Given the description of an element on the screen output the (x, y) to click on. 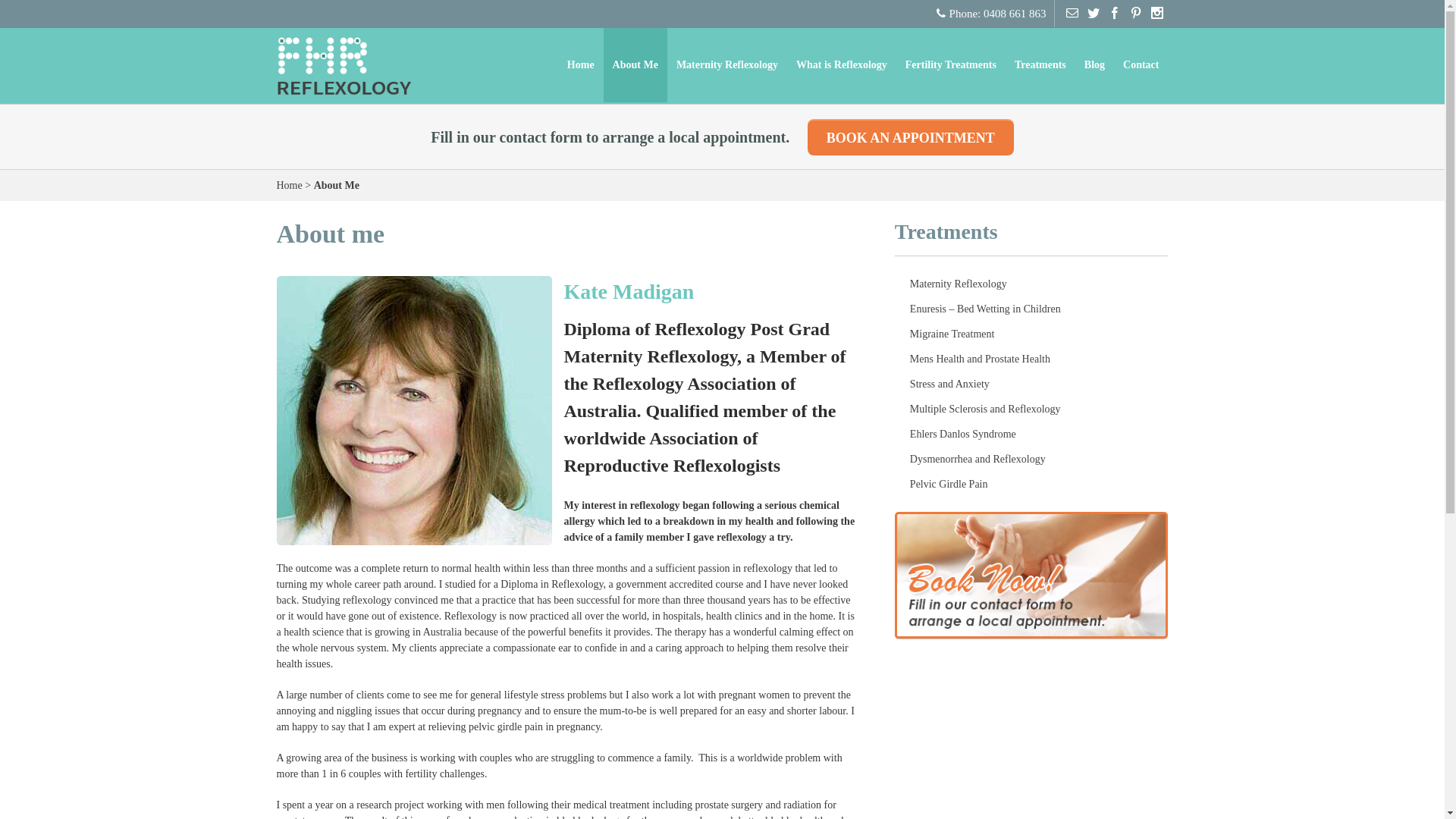
Pinterest Element type: text (1136, 12)
Home Element type: text (288, 185)
Home Element type: text (580, 65)
Maternity Reflexology Element type: text (727, 65)
Dysmenorrhea and Reflexology Element type: text (1031, 458)
Ehlers Danlos Syndrome Element type: text (1031, 433)
Pelvic Girdle Pain Element type: text (1031, 483)
Email Element type: text (1072, 12)
Instagram Element type: text (1157, 12)
Migraine Treatment Element type: text (1031, 333)
Multiple Sclerosis and Reflexology Element type: text (1031, 408)
What is Reflexology Element type: text (841, 65)
Mens Health and Prostate Health Element type: text (1031, 358)
Twitter Element type: text (1094, 12)
Maternity Reflexology Element type: text (1031, 283)
Facebook Element type: text (1115, 12)
Blog Element type: text (1094, 65)
Stress and Anxiety Element type: text (1031, 383)
Treatments Element type: text (1040, 65)
About Me Element type: text (635, 65)
BOOK AN APPOINTMENT Element type: text (910, 136)
Contact Element type: text (1140, 65)
Fertility Treatments Element type: text (950, 65)
0408 661 863 Element type: text (1014, 13)
